Given the description of an element on the screen output the (x, y) to click on. 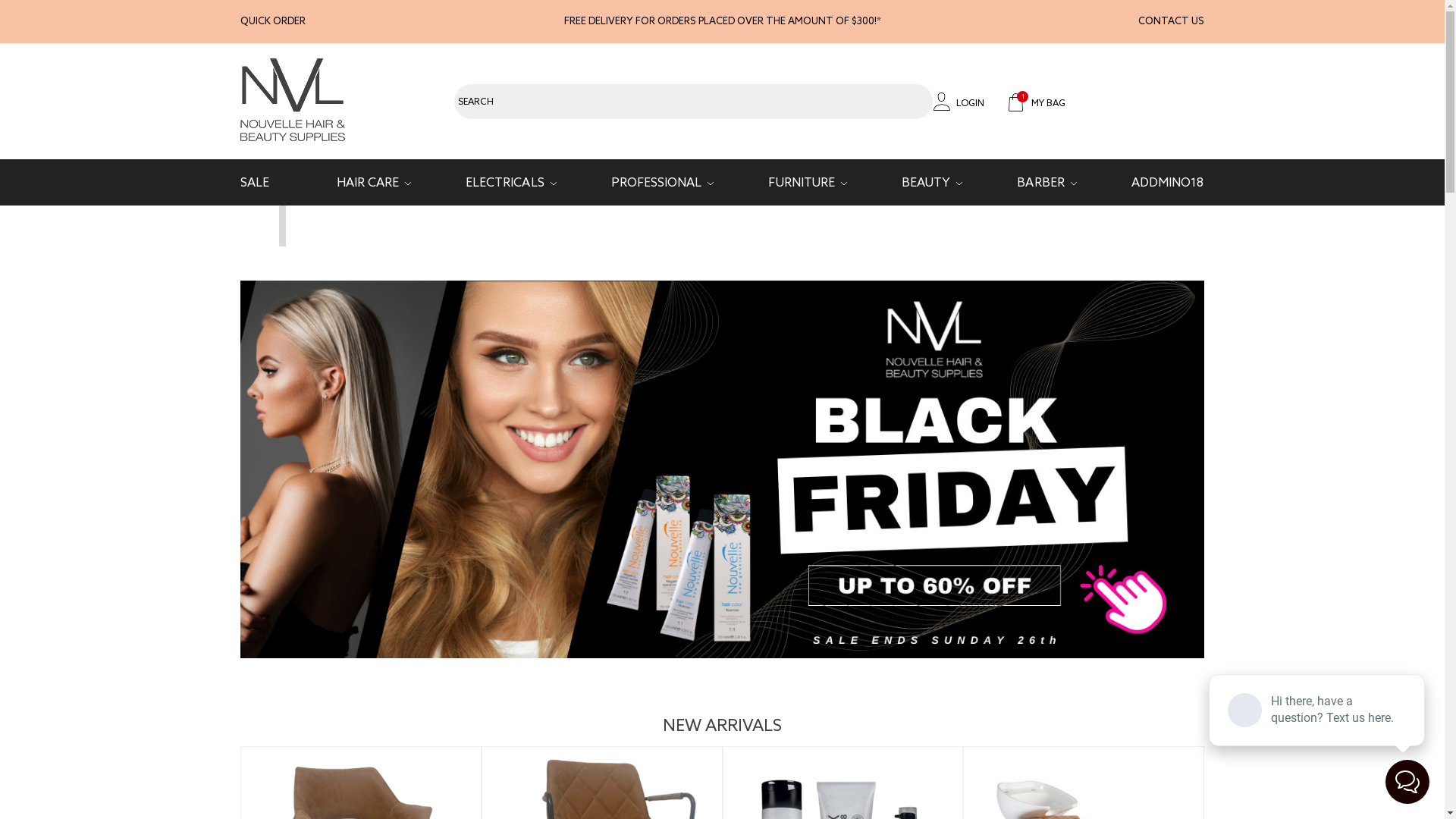
View cart Element type: text (1114, 225)
FURNITURE Element type: text (801, 182)
HAIR CARE Element type: text (367, 182)
ADDMINO18 Element type: text (1167, 182)
SALE Element type: text (254, 182)
CONTACT US Element type: text (1171, 21)
QUICK ORDER Element type: text (272, 21)
PROFESSIONAL Element type: text (656, 182)
TAKE-ME-TO-SALE-(1) Element type: hover (722, 468)
Search Element type: text (490, 97)
BARBER Element type: text (1039, 182)
LOGIN Element type: text (958, 103)
BEAUTY Element type: text (925, 182)
1 Element type: text (1036, 102)
ELECTRICALS Element type: text (504, 182)
